Given the description of an element on the screen output the (x, y) to click on. 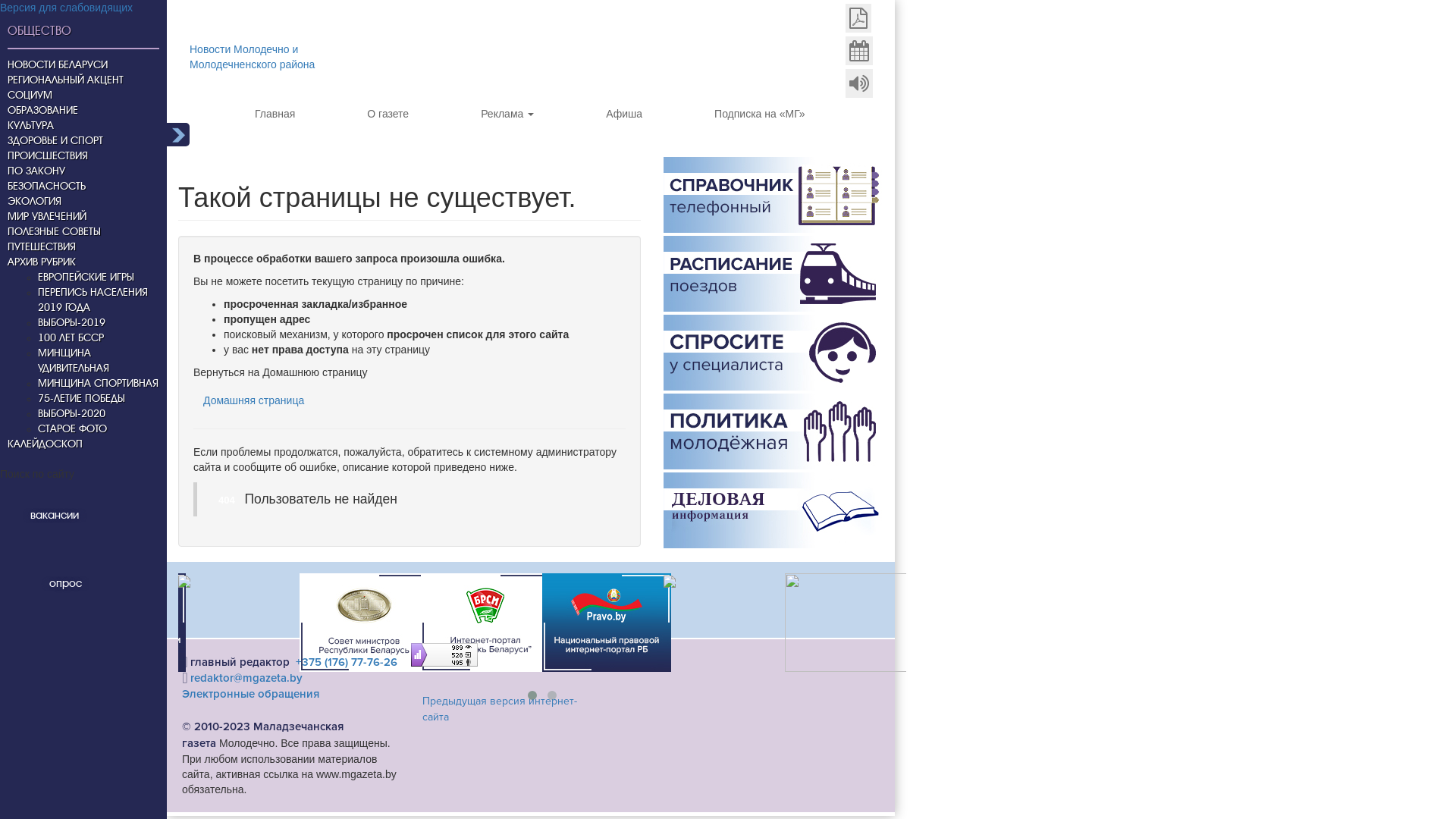
redaktor@mgazeta.by Element type: text (246, 677)
+375 (176) 77-76-26 Element type: text (346, 661)
